Given the description of an element on the screen output the (x, y) to click on. 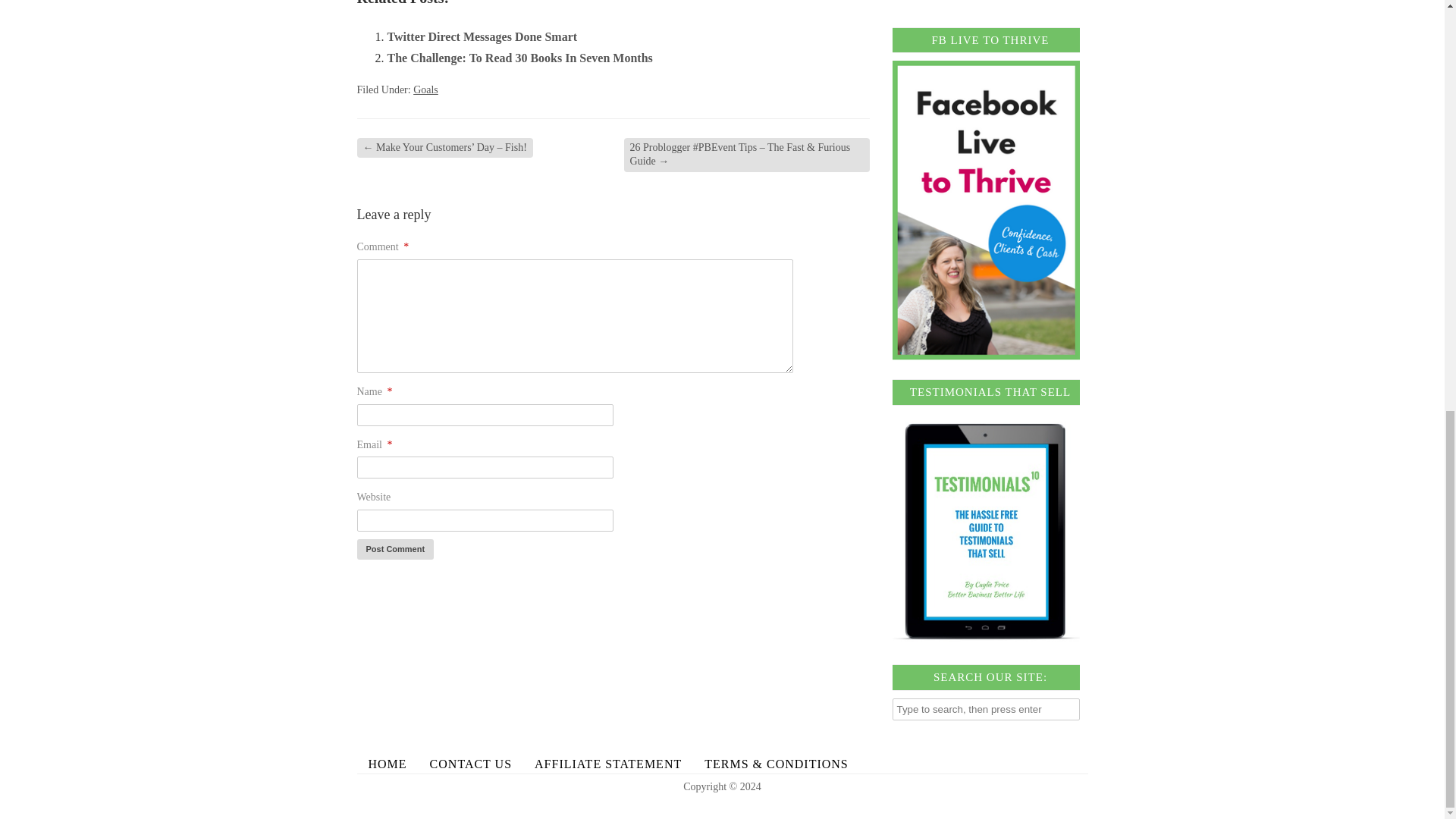
Twitter Direct Messages Done Smart (481, 36)
Type to search, then press enter (986, 709)
The Challenge: To Read 30 Books In Seven Months (519, 57)
Goals (425, 89)
Post Comment (394, 548)
CONTACT US (470, 763)
Twitter Direct Messages Done Smart (481, 36)
Post Comment (394, 548)
The Challenge: To Read 30 Books In Seven Months (519, 57)
AFFILIATE STATEMENT (607, 763)
